Given the description of an element on the screen output the (x, y) to click on. 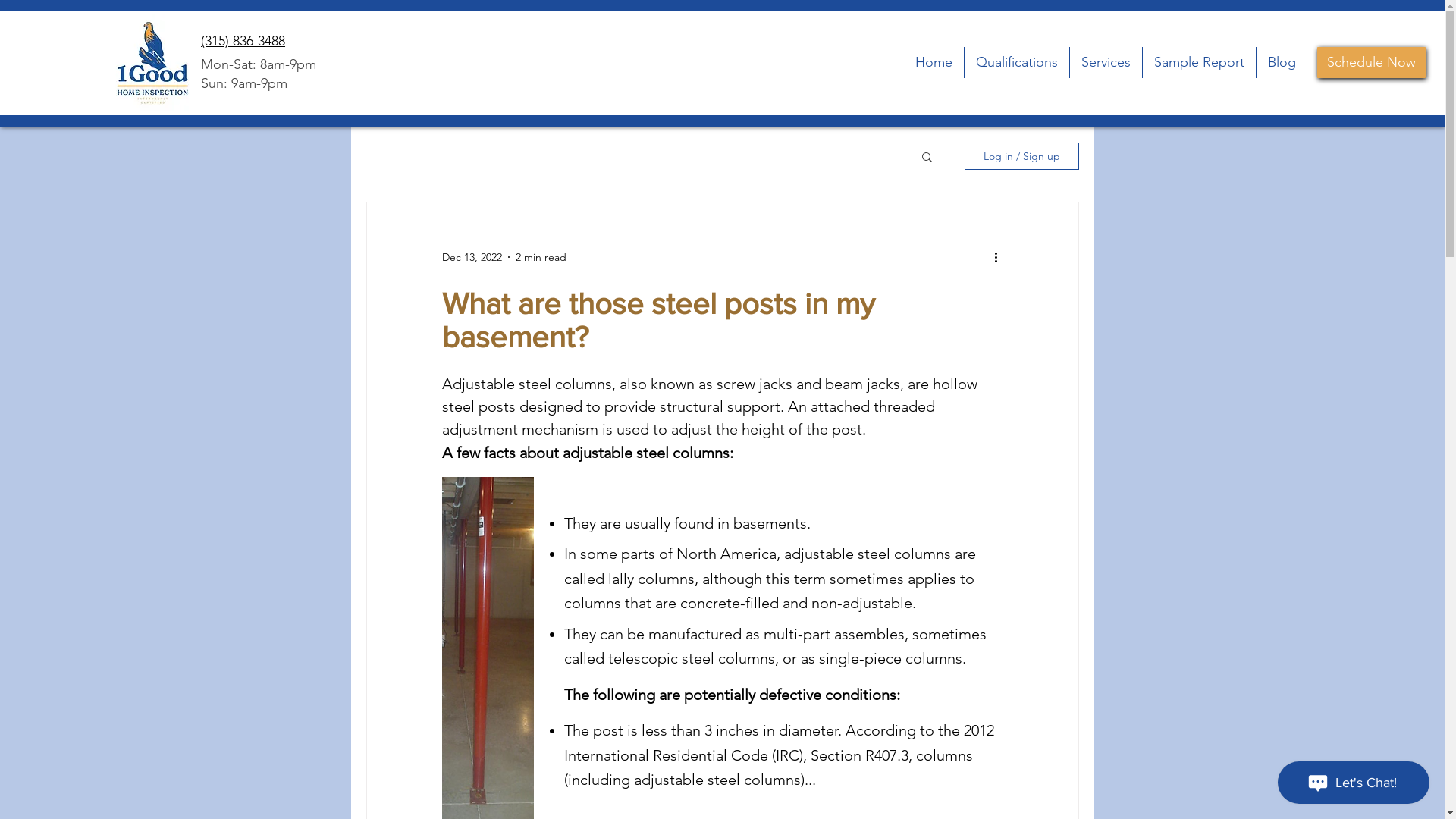
Log in / Sign up Element type: text (1021, 155)
Services Element type: text (1105, 62)
Schedule Now Element type: text (1371, 62)
Blog Element type: text (1280, 62)
(315) 836-3488 Element type: text (242, 40)
Home Element type: text (933, 62)
Sample Report Element type: text (1198, 62)
Qualifications Element type: text (1016, 62)
